Given the description of an element on the screen output the (x, y) to click on. 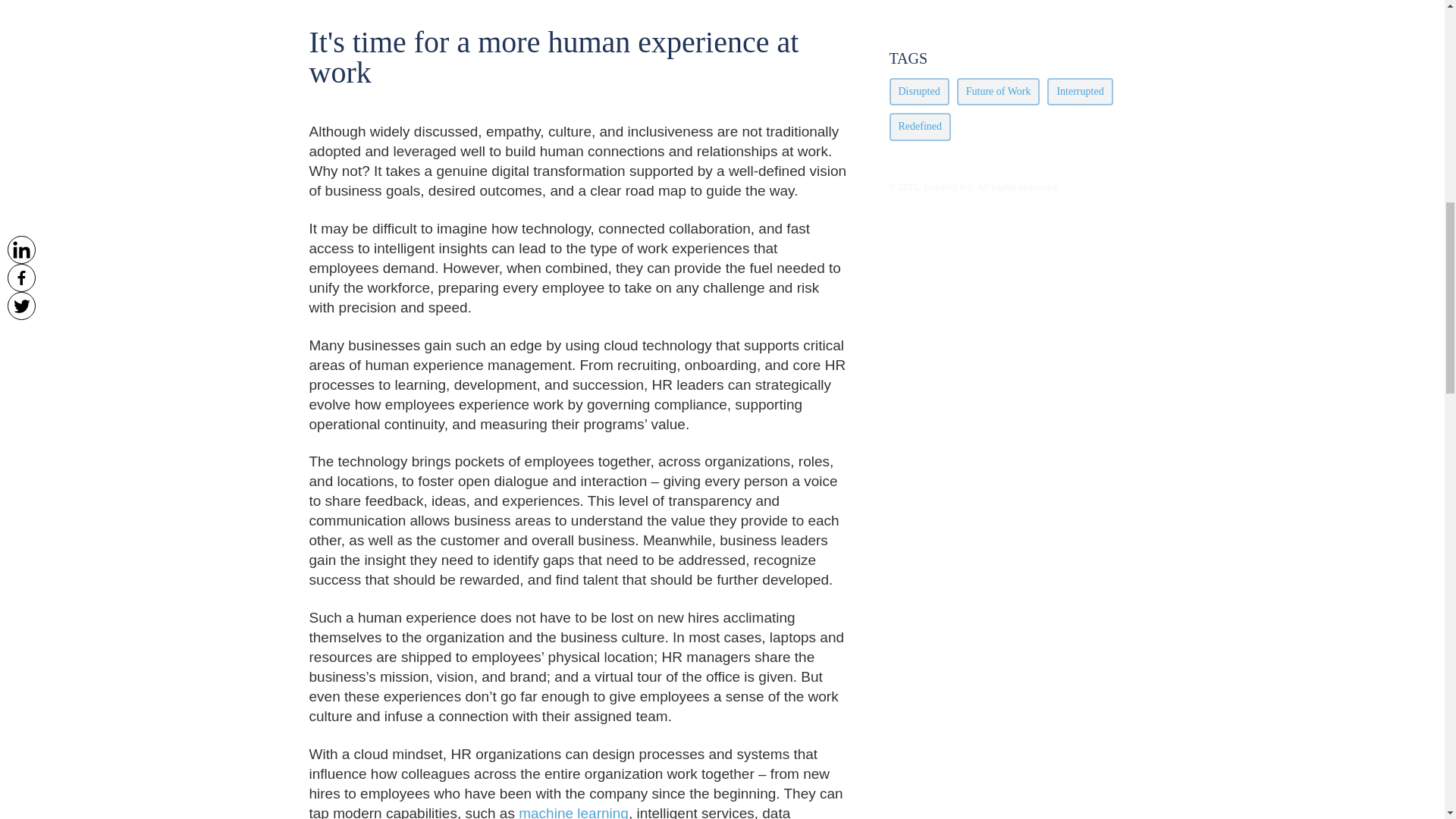
Future of Work (998, 91)
Interrupted (1079, 91)
Disrupted (918, 91)
machine learning (573, 812)
Redefined (919, 126)
